Given the description of an element on the screen output the (x, y) to click on. 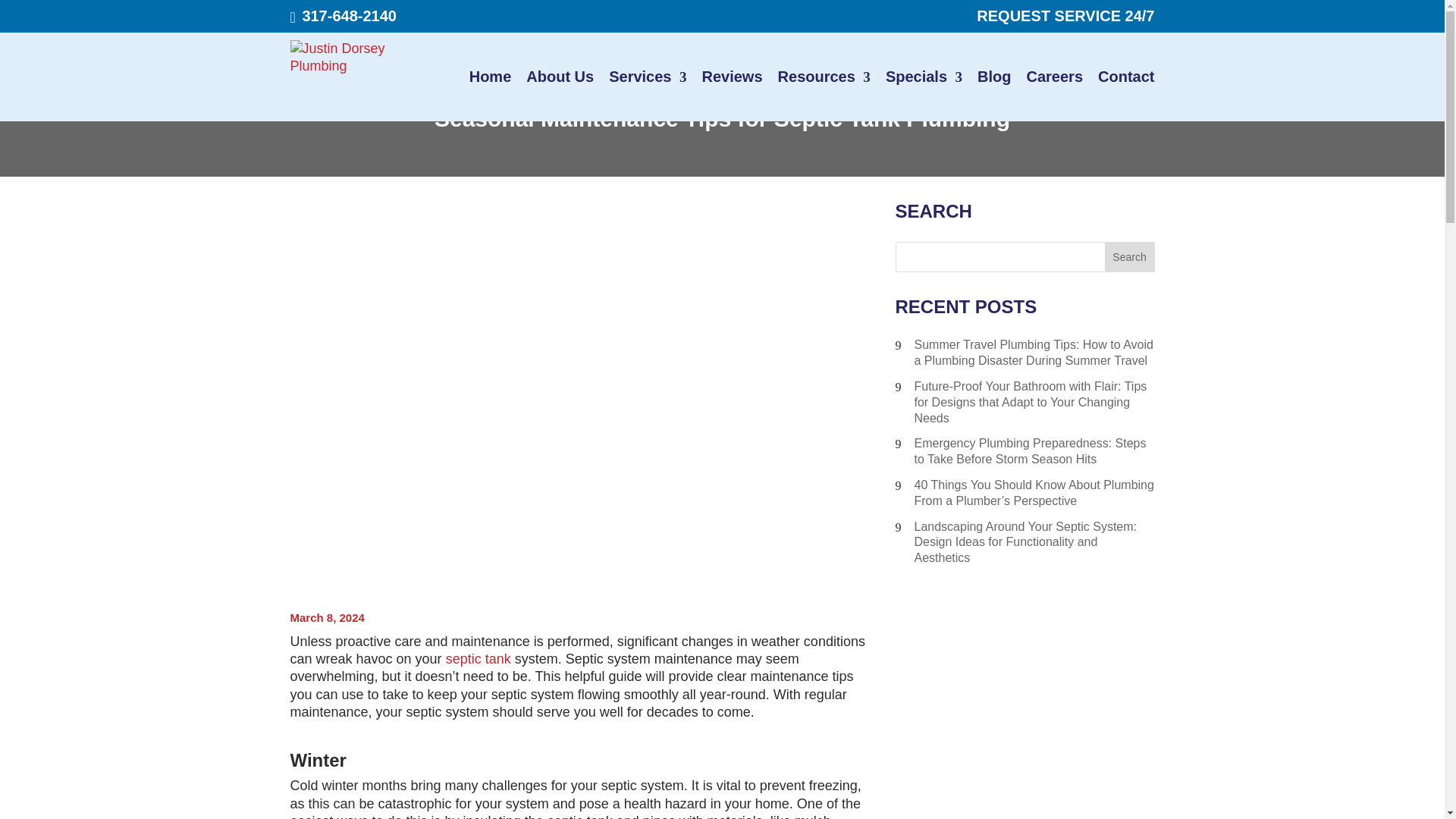
Search (1129, 256)
Resources (823, 76)
septic tank (478, 658)
